Given the description of an element on the screen output the (x, y) to click on. 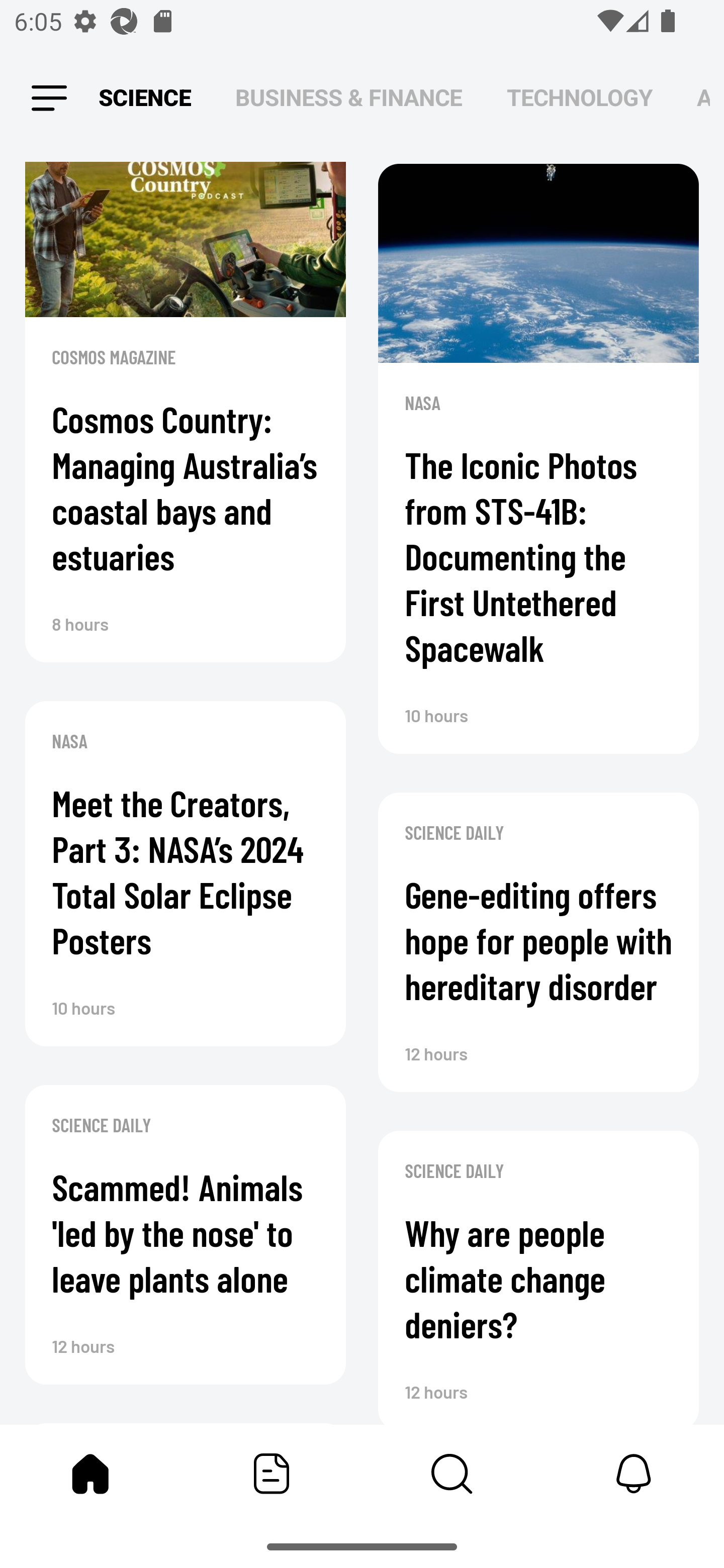
Leading Icon (49, 98)
BUSINESS & FINANCE (348, 97)
TECHNOLOGY (579, 97)
Featured (271, 1473)
Content Store (452, 1473)
Notifications (633, 1473)
